Given the description of an element on the screen output the (x, y) to click on. 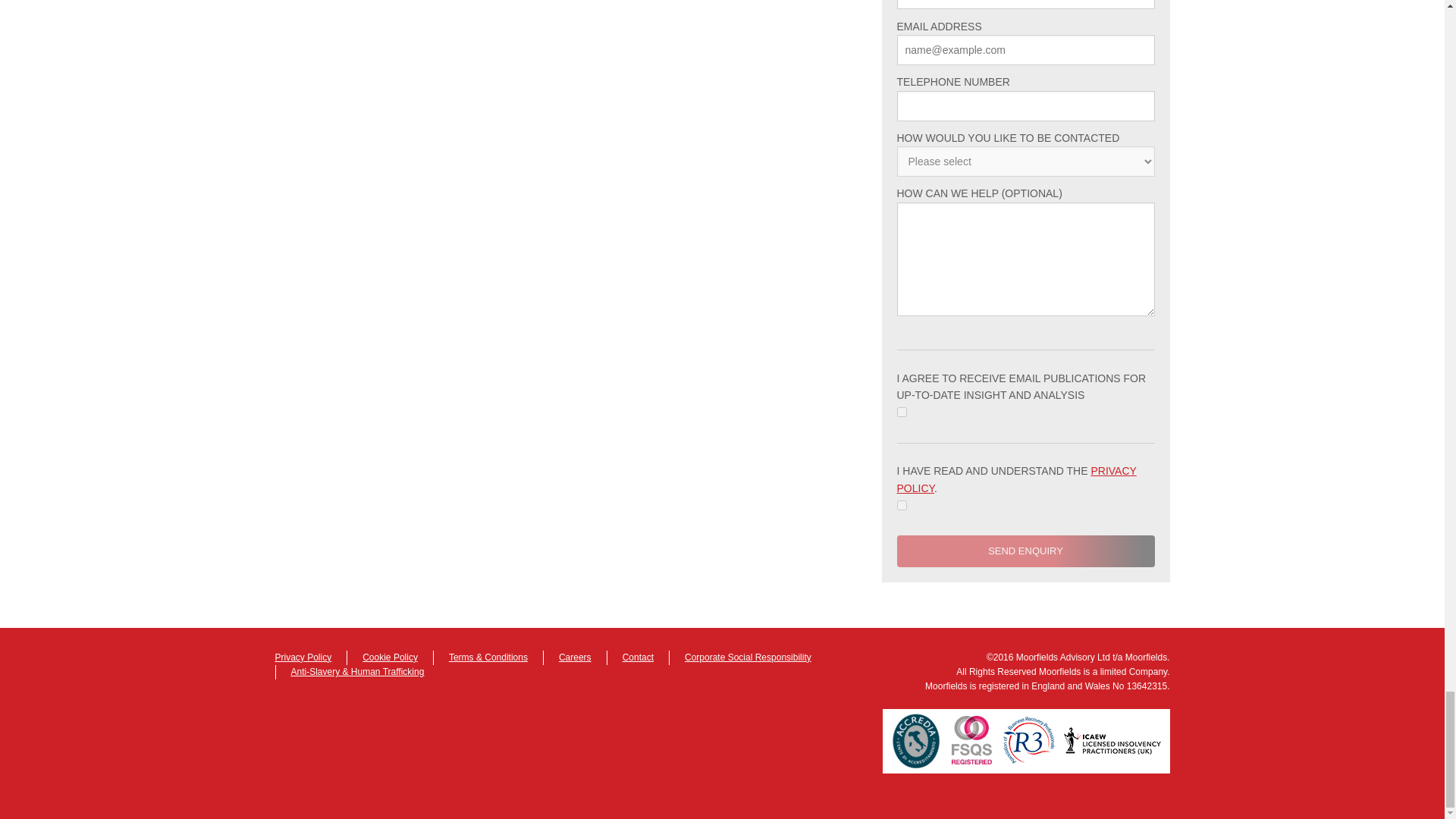
Send Enquiry (1025, 551)
on (900, 505)
privacy policy (1015, 479)
Understand the privacy policy (900, 505)
true (900, 411)
